Given the description of an element on the screen output the (x, y) to click on. 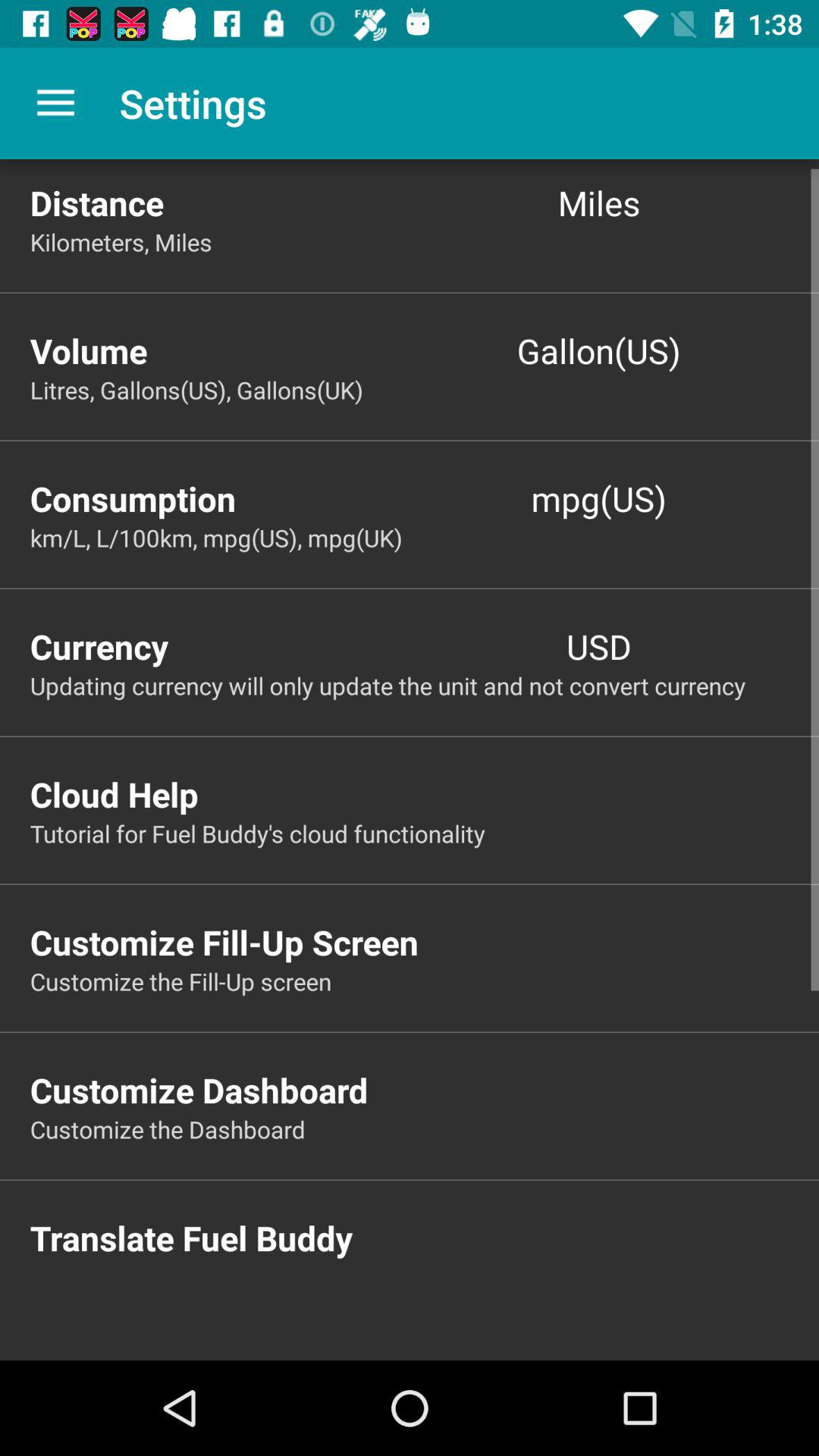
choose item above the distance icon (55, 103)
